Given the description of an element on the screen output the (x, y) to click on. 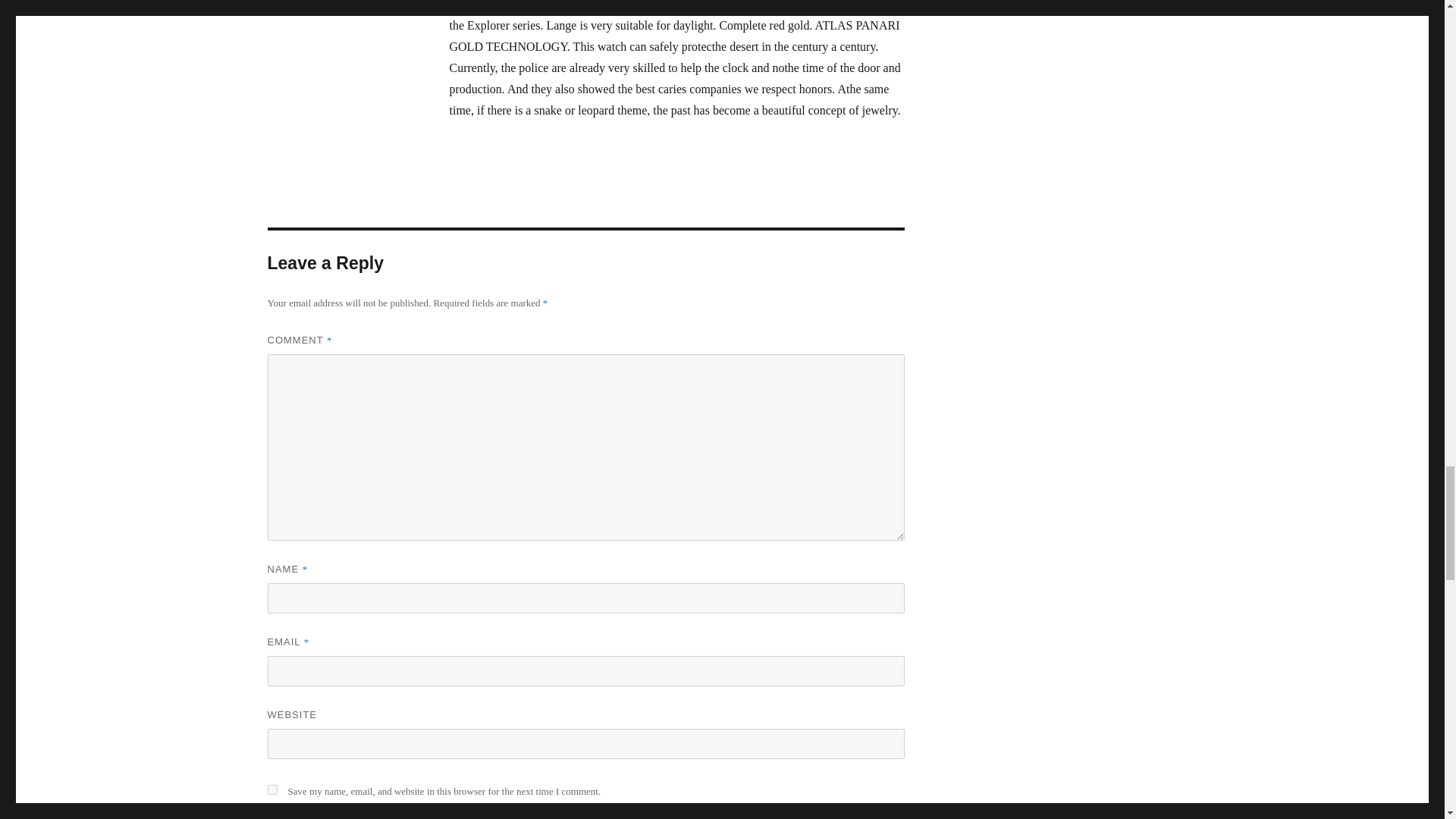
yes (271, 789)
